Given the description of an element on the screen output the (x, y) to click on. 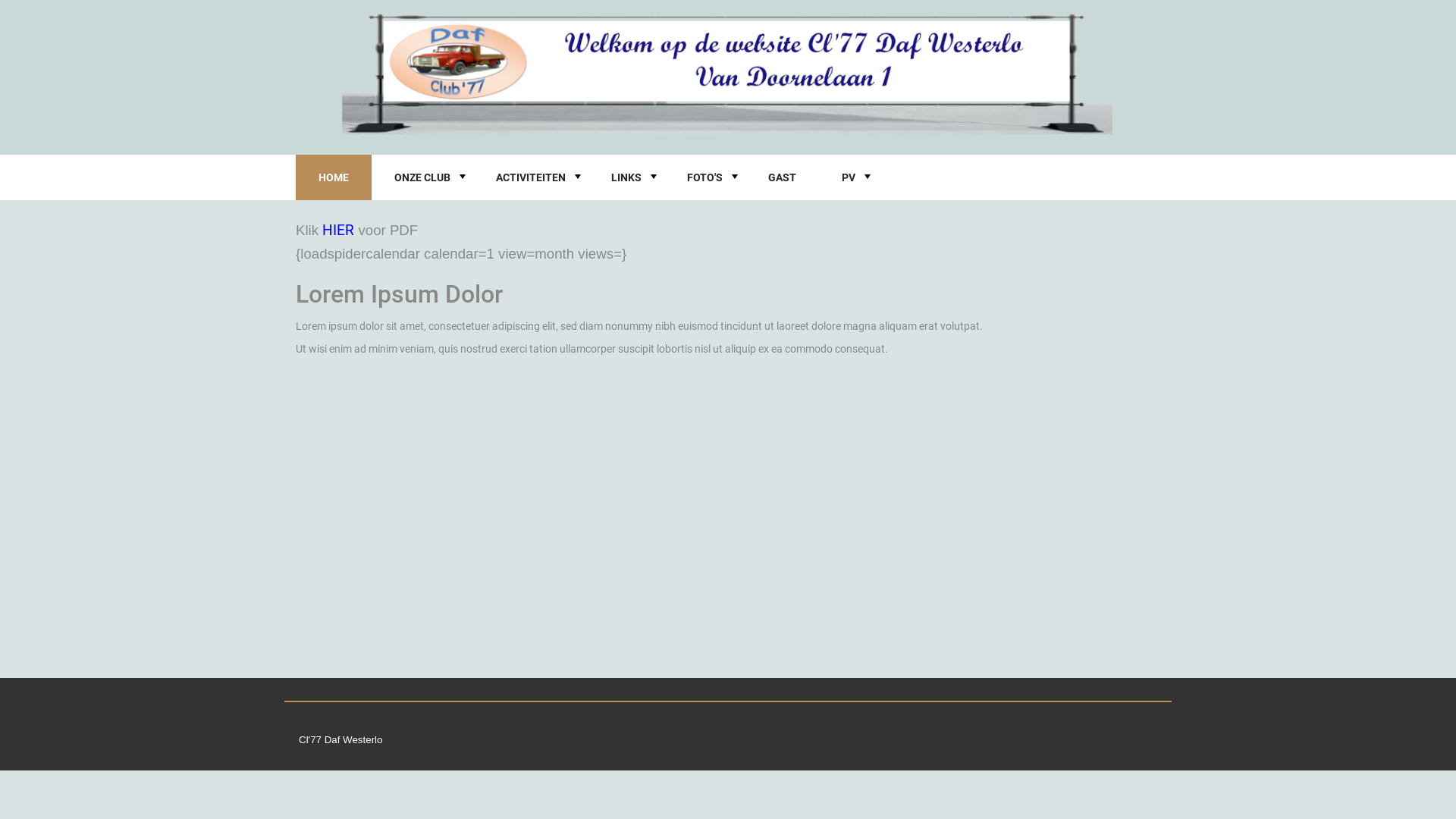
ONZE CLUB Element type: text (422, 177)
HIER Element type: text (338, 230)
FOTO'S Element type: text (704, 177)
GAST Element type: text (782, 177)
ACTIVITEITEN Element type: text (530, 177)
LINKS Element type: text (626, 177)
PV Element type: text (848, 177)
HOME Element type: text (333, 177)
